Given the description of an element on the screen output the (x, y) to click on. 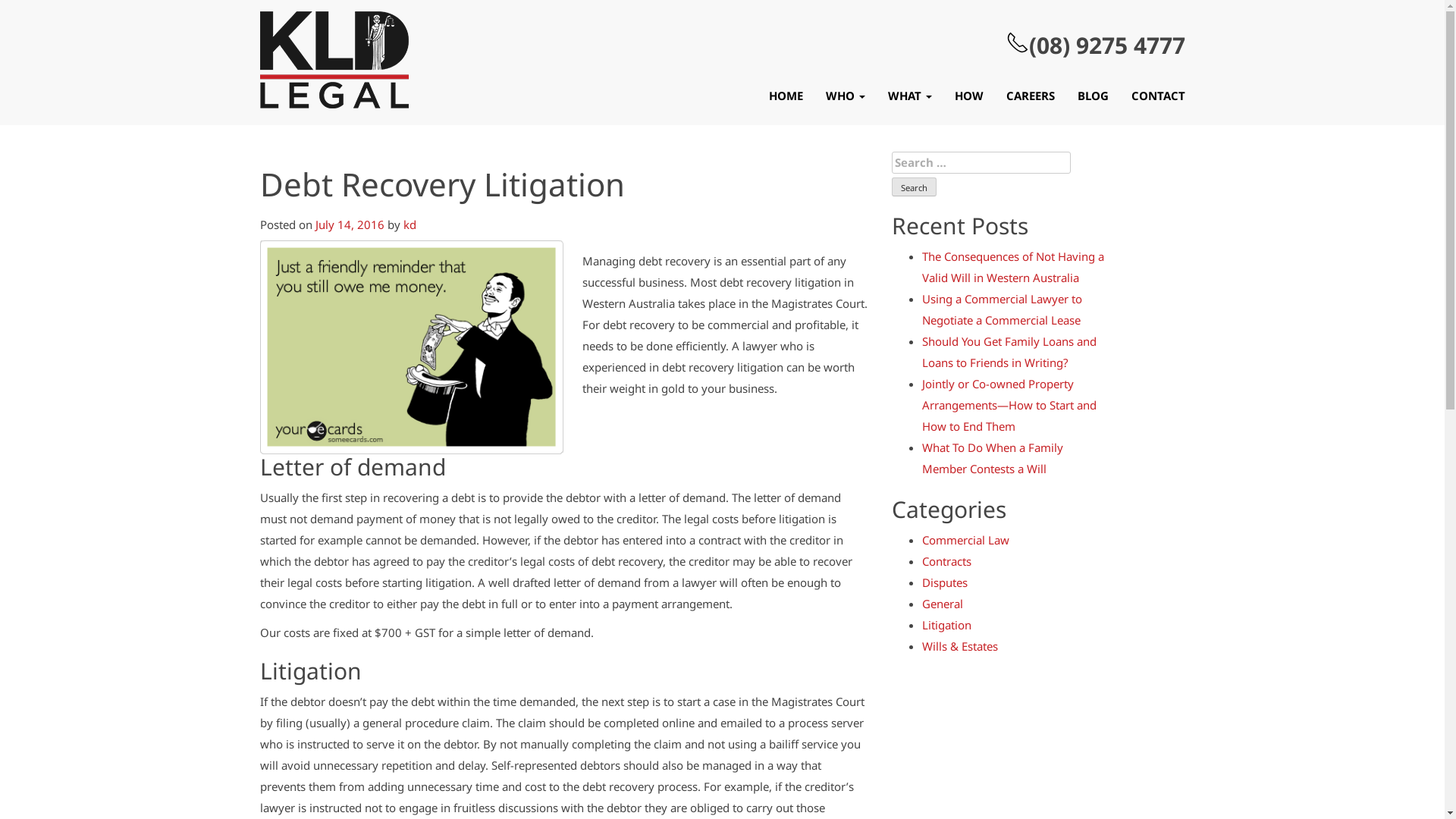
Using a Commercial Lawyer to Negotiate a Commercial Lease Element type: text (1002, 309)
Wills & Estates Element type: text (959, 645)
(08) 9275 4777 Element type: text (1094, 44)
Disputes Element type: text (944, 581)
General Element type: text (942, 603)
Should You Get Family Loans and Loans to Friends in Writing? Element type: text (1009, 351)
HOME Element type: text (784, 95)
Commercial Law Element type: text (965, 539)
July 14, 2016 Element type: text (349, 224)
CAREERS Element type: text (1030, 95)
WHO Element type: text (845, 95)
CONTACT Element type: text (1151, 95)
BLOG Element type: text (1093, 95)
WHAT Element type: text (909, 95)
Contracts Element type: text (946, 560)
What To Do When a Family Member Contests a Will Element type: text (992, 457)
Litigation Element type: text (946, 624)
kd Element type: text (409, 224)
HOW Element type: text (968, 95)
Search Element type: text (914, 186)
